Given the description of an element on the screen output the (x, y) to click on. 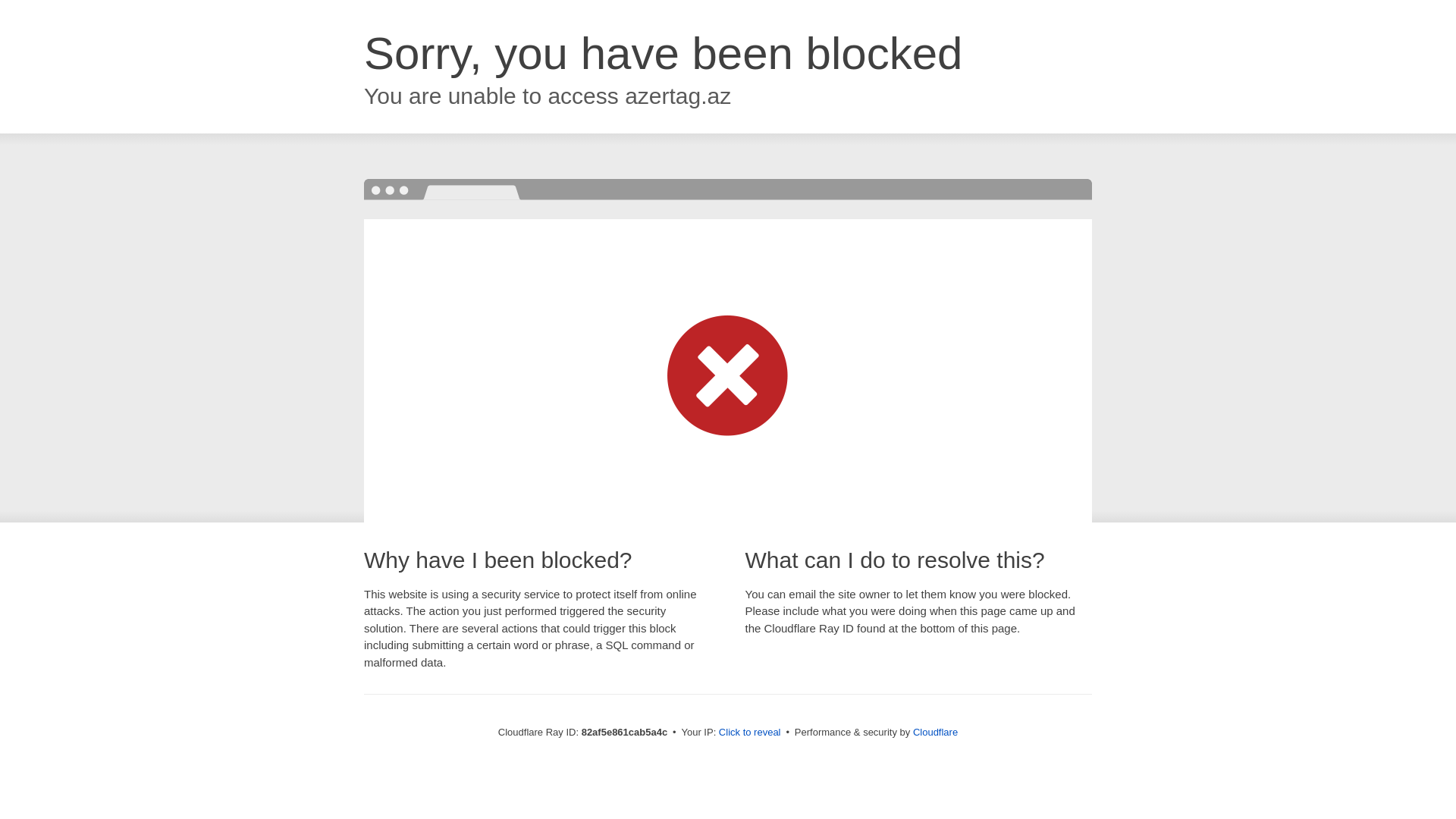
Cloudflare Element type: text (935, 731)
Click to reveal Element type: text (749, 732)
